Given the description of an element on the screen output the (x, y) to click on. 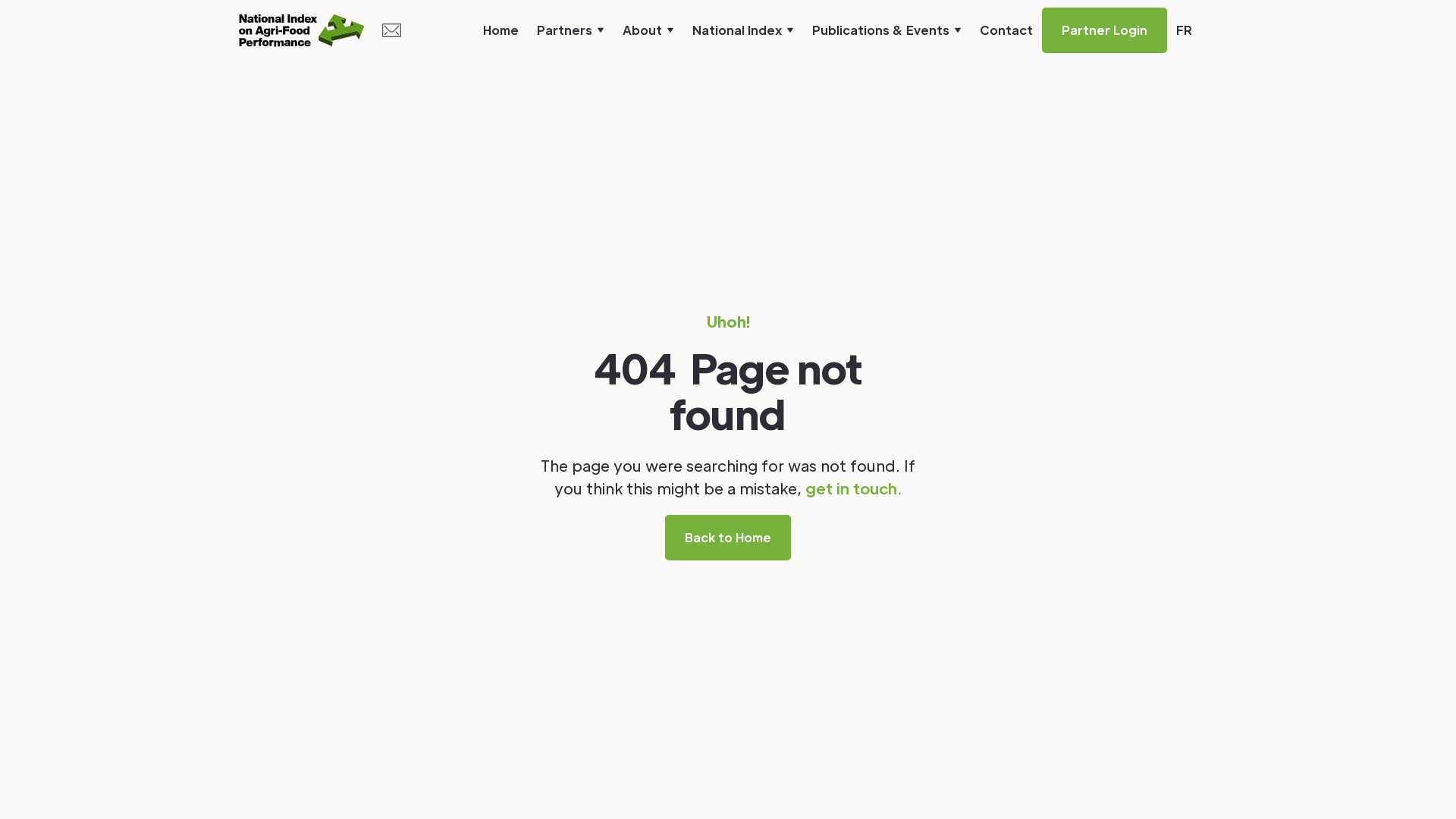
Contact Element type: text (1005, 30)
FR Element type: text (1184, 30)
get in touch. Element type: text (853, 487)
Partner Login Element type: text (1104, 30)
Home Element type: text (500, 30)
Back to Home Element type: text (727, 536)
